Given the description of an element on the screen output the (x, y) to click on. 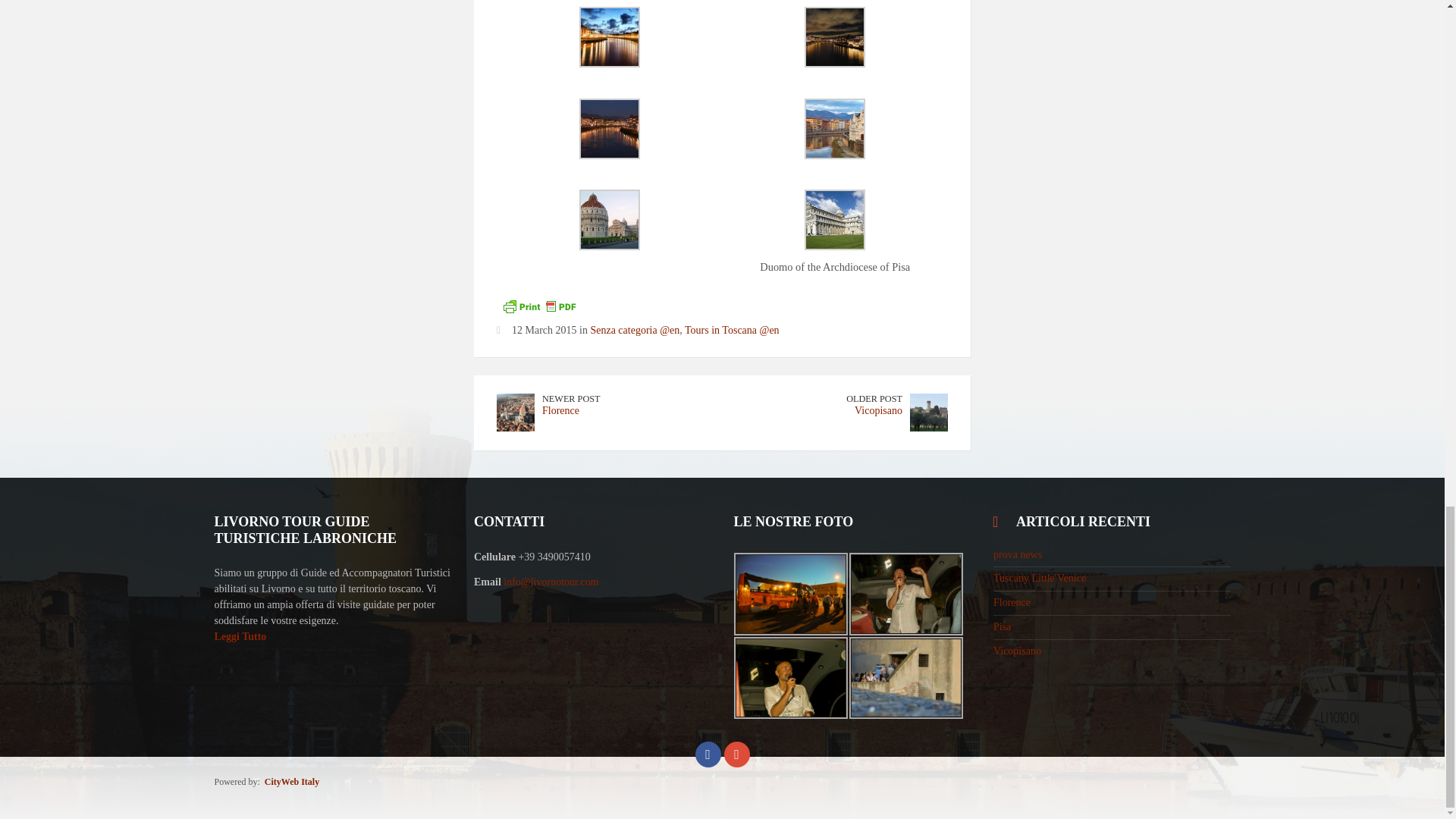
Guide Turistiche a Livorno visite guidate (905, 593)
NEWER POST (570, 398)
Florence (560, 410)
Vicopisano (878, 410)
Guide Turistiche a Livorno visite guidate (790, 677)
Guide Turistiche a Livorno visite guidate (905, 677)
OLDER POST (873, 398)
Guide Turistiche a Livorno visite guidate (790, 593)
Guide turisticche a Livorno (240, 636)
